Given the description of an element on the screen output the (x, y) to click on. 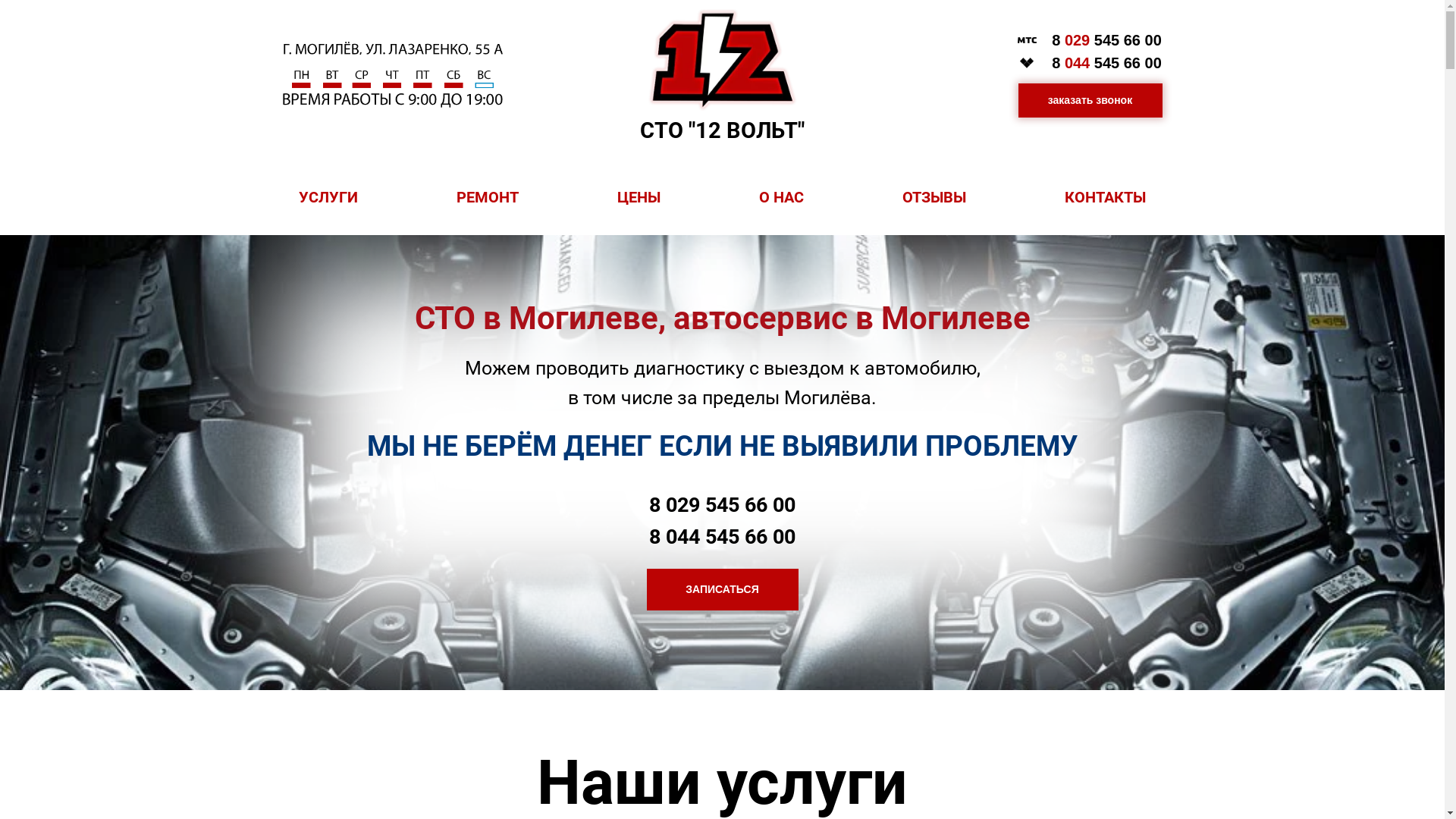
545 66 00 Element type: text (1127, 39)
8 029 545 66 00 Element type: text (722, 504)
545 66 00 Element type: text (1127, 62)
8 Element type: text (1055, 62)
044 Element type: text (1076, 62)
029 Element type: text (1076, 39)
8 Element type: text (1055, 39)
8 044 545 66 00 Element type: text (722, 536)
